Given the description of an element on the screen output the (x, y) to click on. 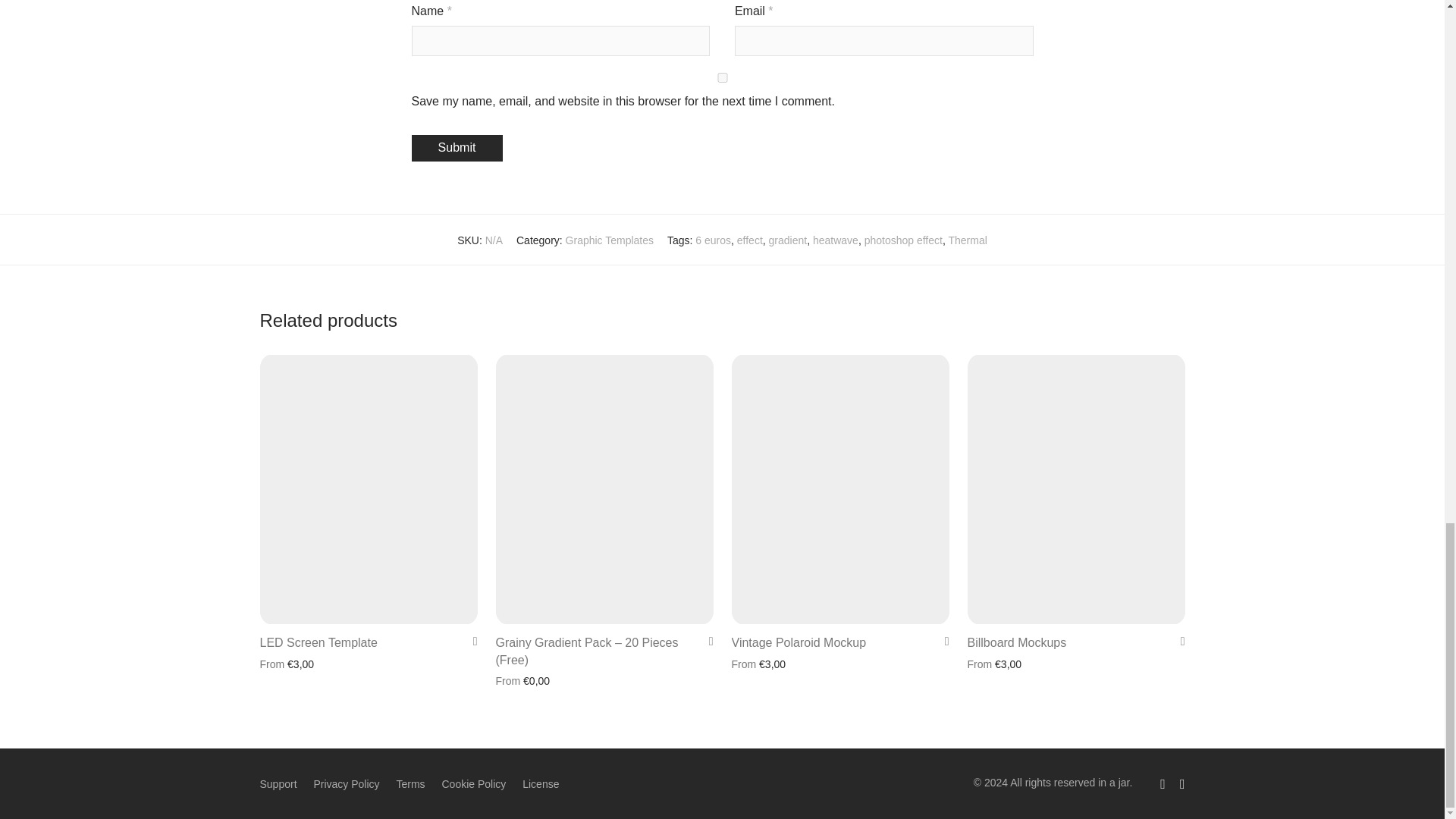
6 euros (712, 240)
effect (749, 240)
Graphic Templates (609, 240)
Add to Wishlist (941, 640)
Add to Wishlist (470, 640)
Submit (456, 148)
Submit (456, 148)
Add to Wishlist (1177, 640)
yes (721, 77)
Add to Wishlist (705, 640)
